Given the description of an element on the screen output the (x, y) to click on. 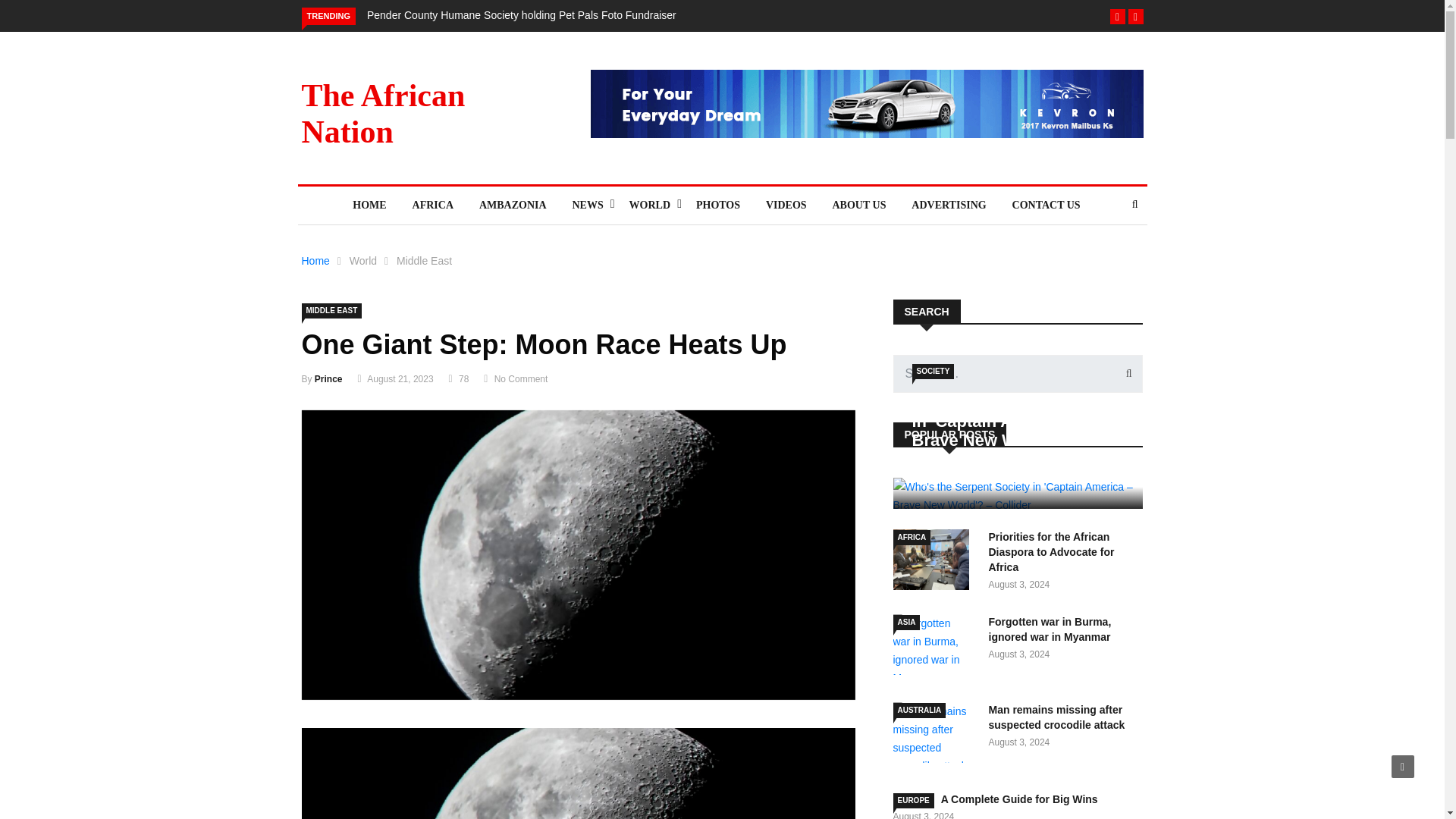
Home (315, 260)
WORLD (649, 205)
One giant step: Moon race heats up (578, 773)
PHOTOS (717, 205)
AFRICA (432, 205)
AMBAZONIA (512, 205)
VIDEOS (786, 205)
Middle East (423, 260)
MIDDLE EAST (331, 310)
ABOUT US (858, 205)
NEWS (587, 205)
ADVERTISING (948, 205)
CONTACT US (1046, 205)
